Given the description of an element on the screen output the (x, y) to click on. 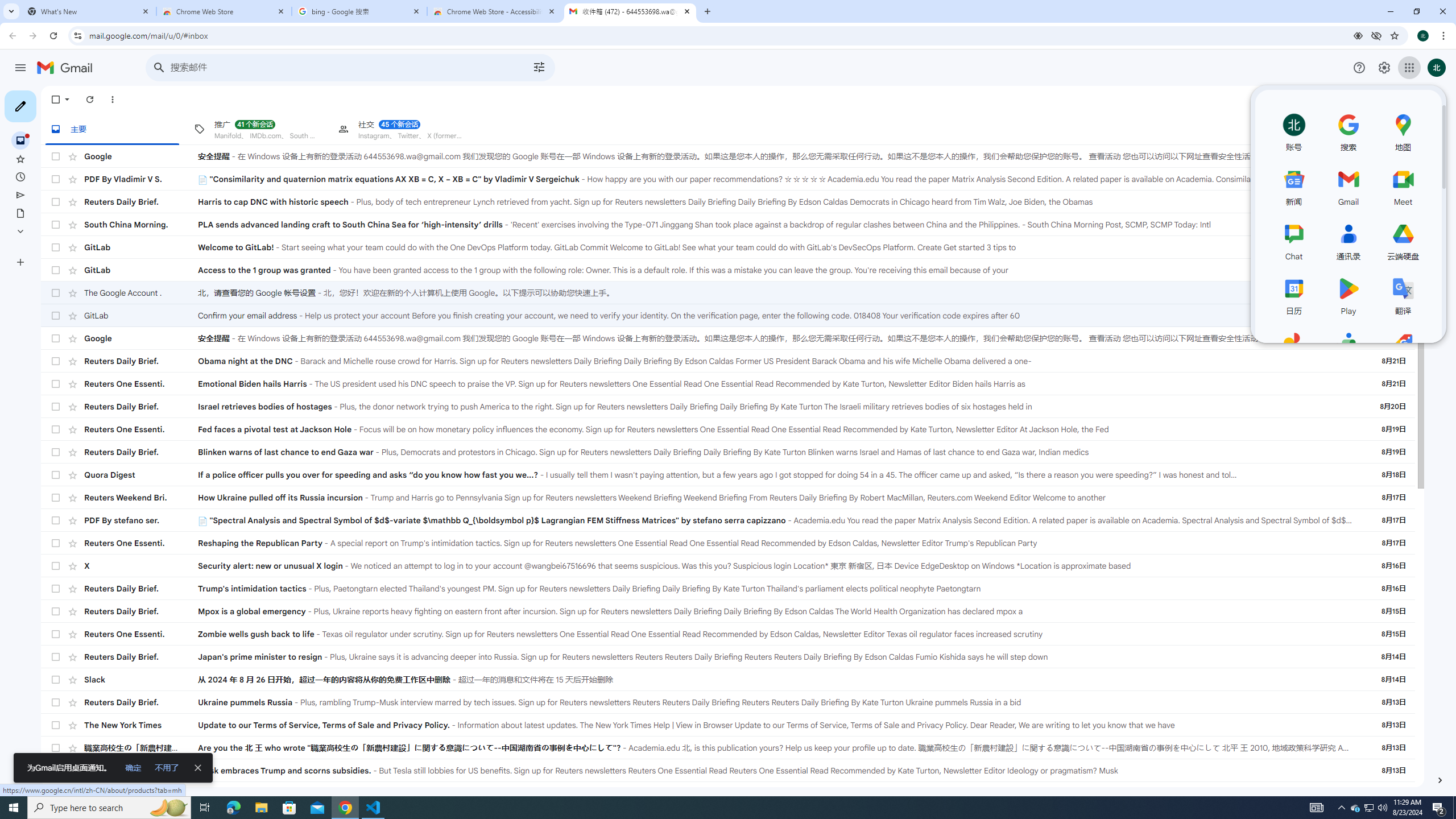
New Tab (706, 11)
Chrome (1445, 35)
Slack (141, 679)
What's New (88, 11)
AutomationID: Layer_1 (1439, 780)
PDF By stefano ser. (141, 519)
